Given the description of an element on the screen output the (x, y) to click on. 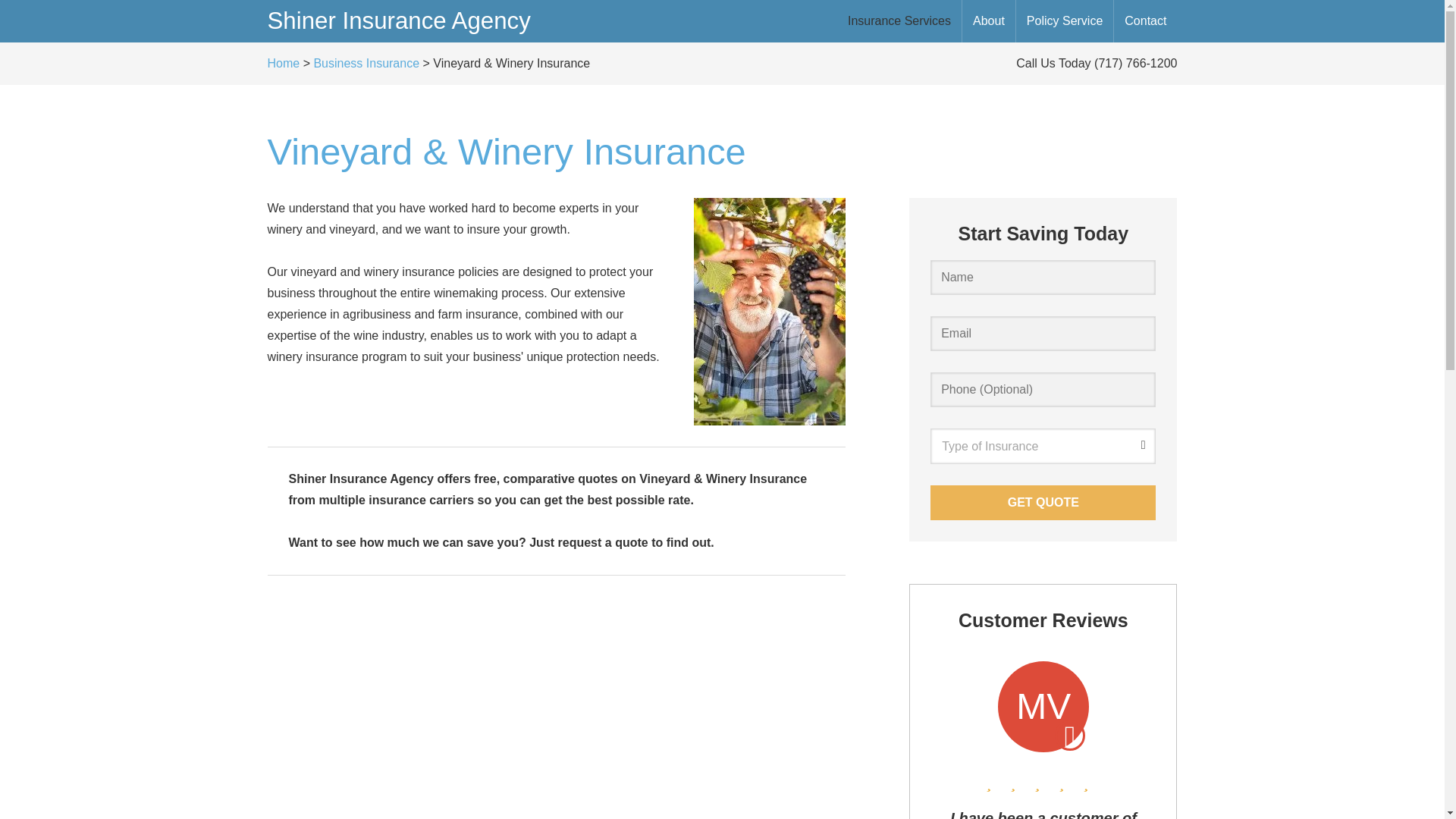
About (988, 21)
Insurance Services (898, 21)
Shiner Insurance Agency (397, 20)
Get Quote (1043, 502)
Policy Service (1064, 21)
